Given the description of an element on the screen output the (x, y) to click on. 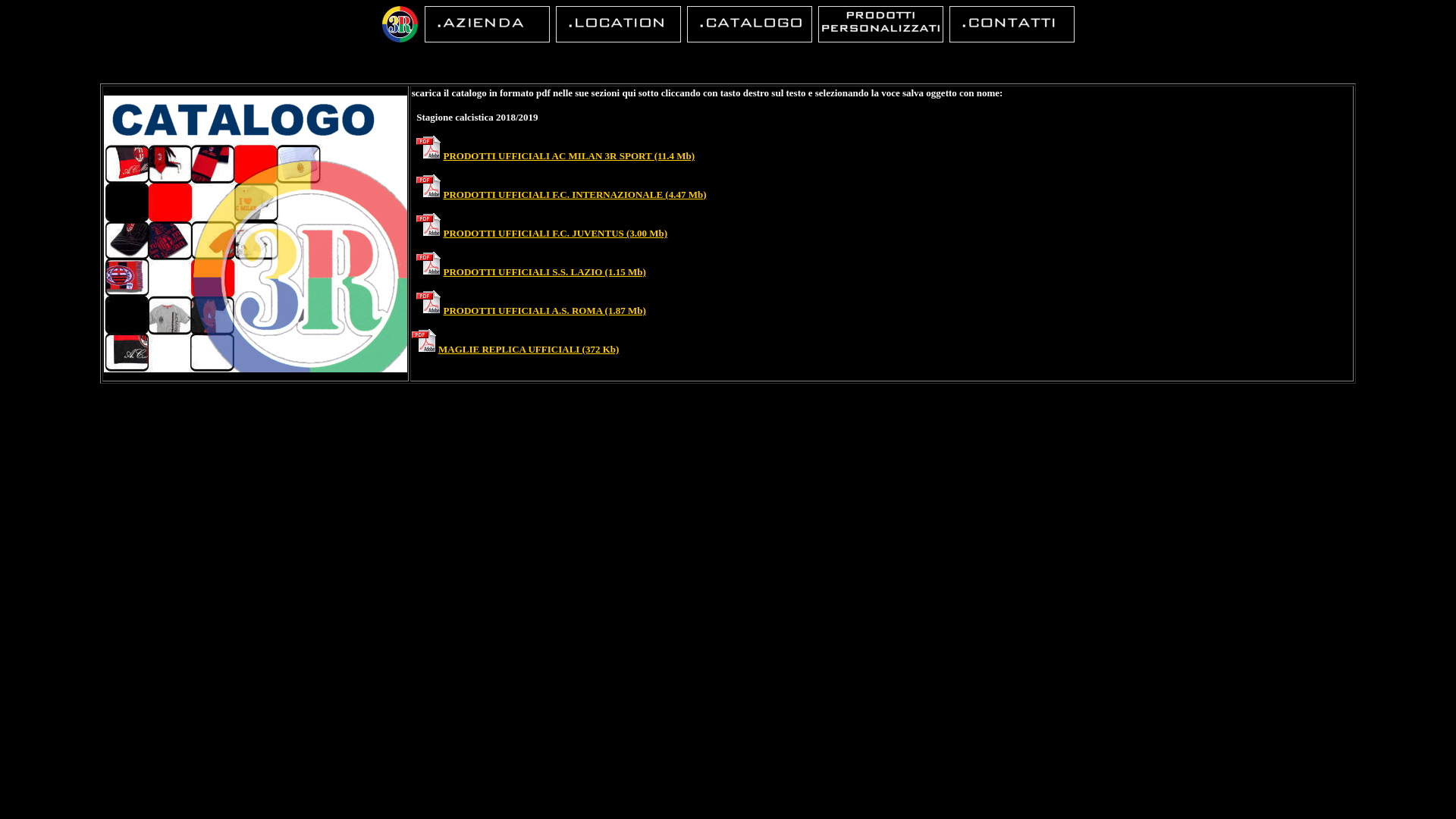
PRODOTTI UFFICIALI AC MILAN 3R SPORT (11.4 Mb) Element type: text (569, 155)
PRODOTTI UFFICIALI S.S. LAZIO (1.15 Mb) Element type: text (544, 271)
PRODOTTI UFFICIALI F.C. INTERNAZIONALE (4.47 Mb) Element type: text (574, 194)
PRODOTTI UFFICIALI A.S. ROMA (1.87 Mb) Element type: text (544, 310)
MAGLIE REPLICA UFFICIALI (372 Kb) Element type: text (528, 348)
PRODOTTI UFFICIALI F.C. JUVENTUS (3.00 Mb) Element type: text (555, 232)
